Given the description of an element on the screen output the (x, y) to click on. 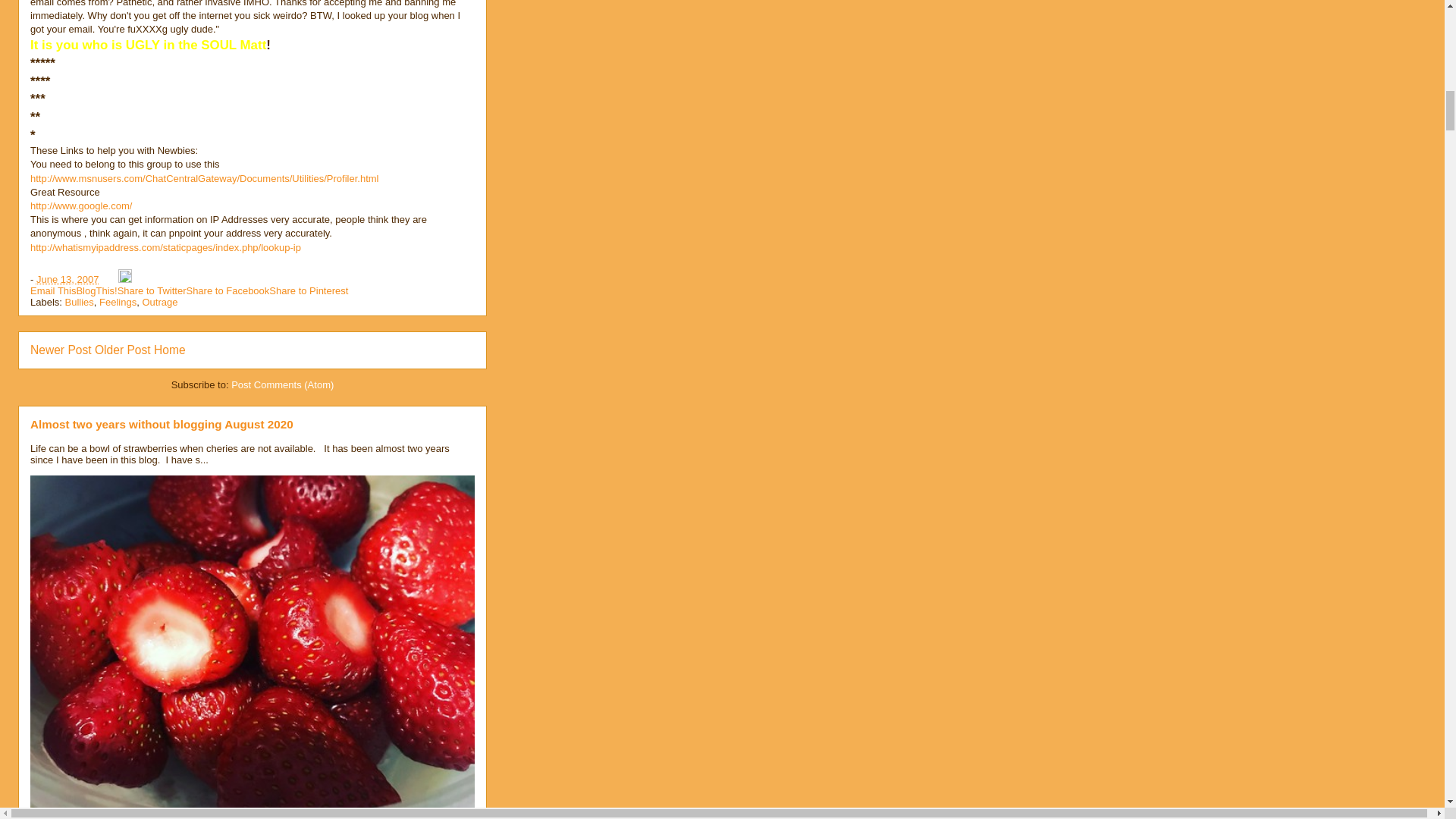
Share to Pinterest (308, 290)
Bullies (79, 301)
June 13, 2007 (67, 279)
Share to Twitter (151, 290)
Email Post (109, 279)
Email This (52, 290)
Edit Post (124, 279)
Feelings (117, 301)
Email This (52, 290)
Share to Facebook (227, 290)
BlogThis! (95, 290)
Share to Pinterest (308, 290)
Share to Facebook (227, 290)
Outrage (159, 301)
permanent link (67, 279)
